Given the description of an element on the screen output the (x, y) to click on. 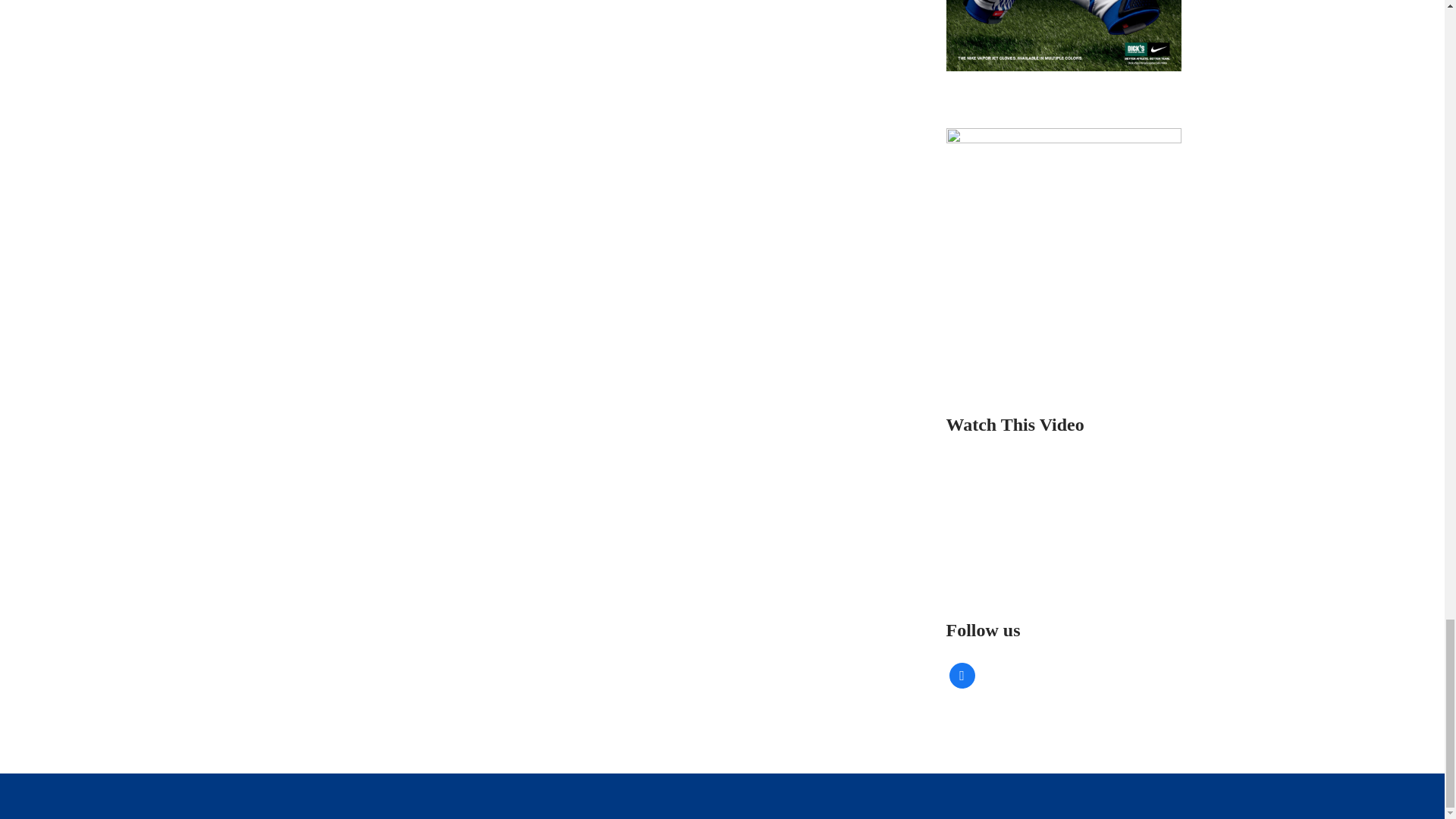
Facebook (962, 675)
facebook (962, 675)
